Given the description of an element on the screen output the (x, y) to click on. 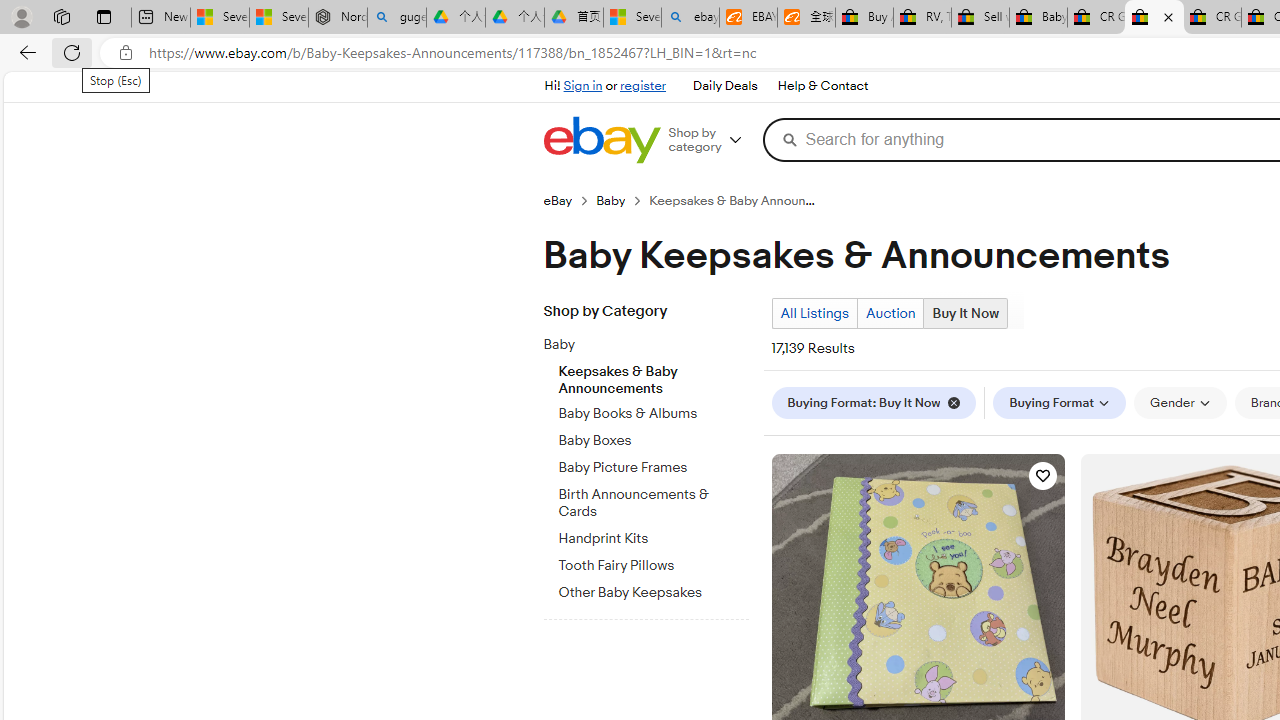
Baby Picture Frames (653, 464)
eBay (557, 200)
Baby Boxes (653, 437)
Daily Deals (724, 85)
Birth Announcements & Cards (653, 500)
Shop by category (711, 140)
Buy It Now (965, 313)
guge yunpan - Search (396, 17)
Buying Format: Buy It Now - Remove Filter (873, 403)
Buy It Now Current view (965, 313)
Handprint Kits (653, 538)
Daily Deals (724, 86)
Tooth Fairy Pillows (653, 566)
Baby Books & Albums (653, 414)
